Given the description of an element on the screen output the (x, y) to click on. 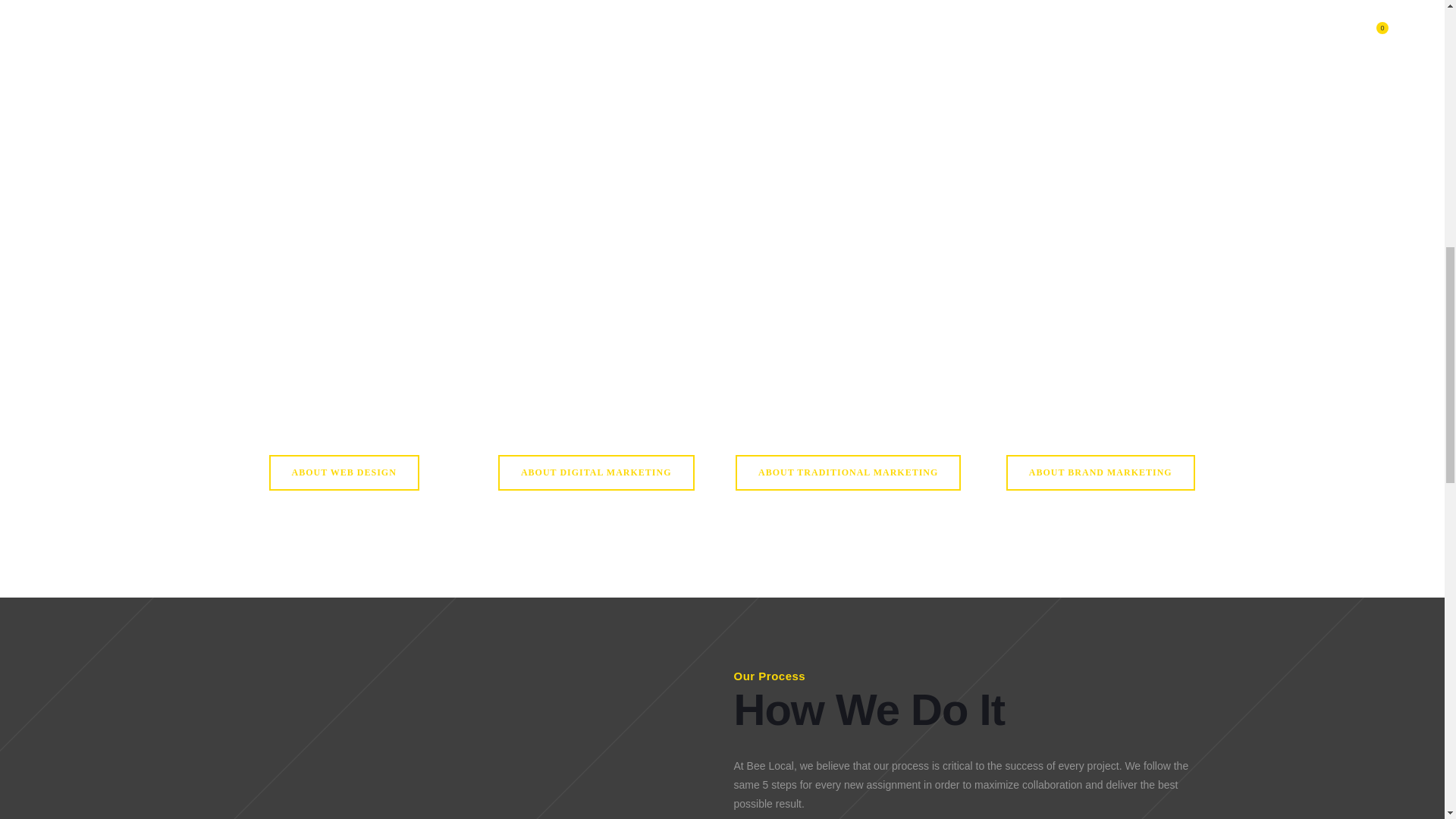
ABOUT WEB DESIGN (344, 472)
ABOUT TRADITIONAL MARKETING (847, 472)
ABOUT BRAND MARKETING (1100, 472)
ABOUT DIGITAL MARKETING (595, 472)
